Given the description of an element on the screen output the (x, y) to click on. 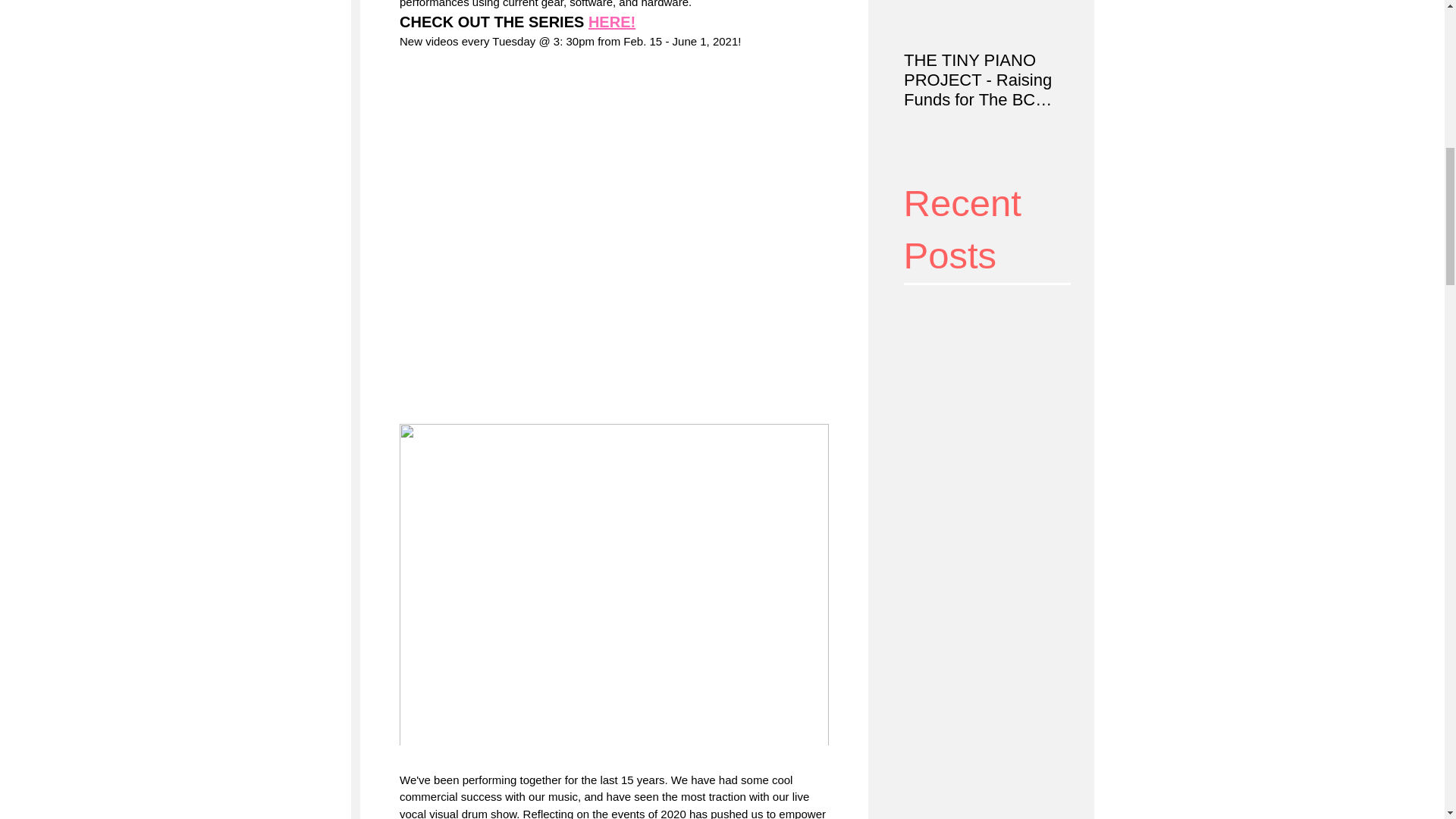
DTV:: LIVE VIDEO SERIES (1153, 70)
HERE! (611, 22)
